Given the description of an element on the screen output the (x, y) to click on. 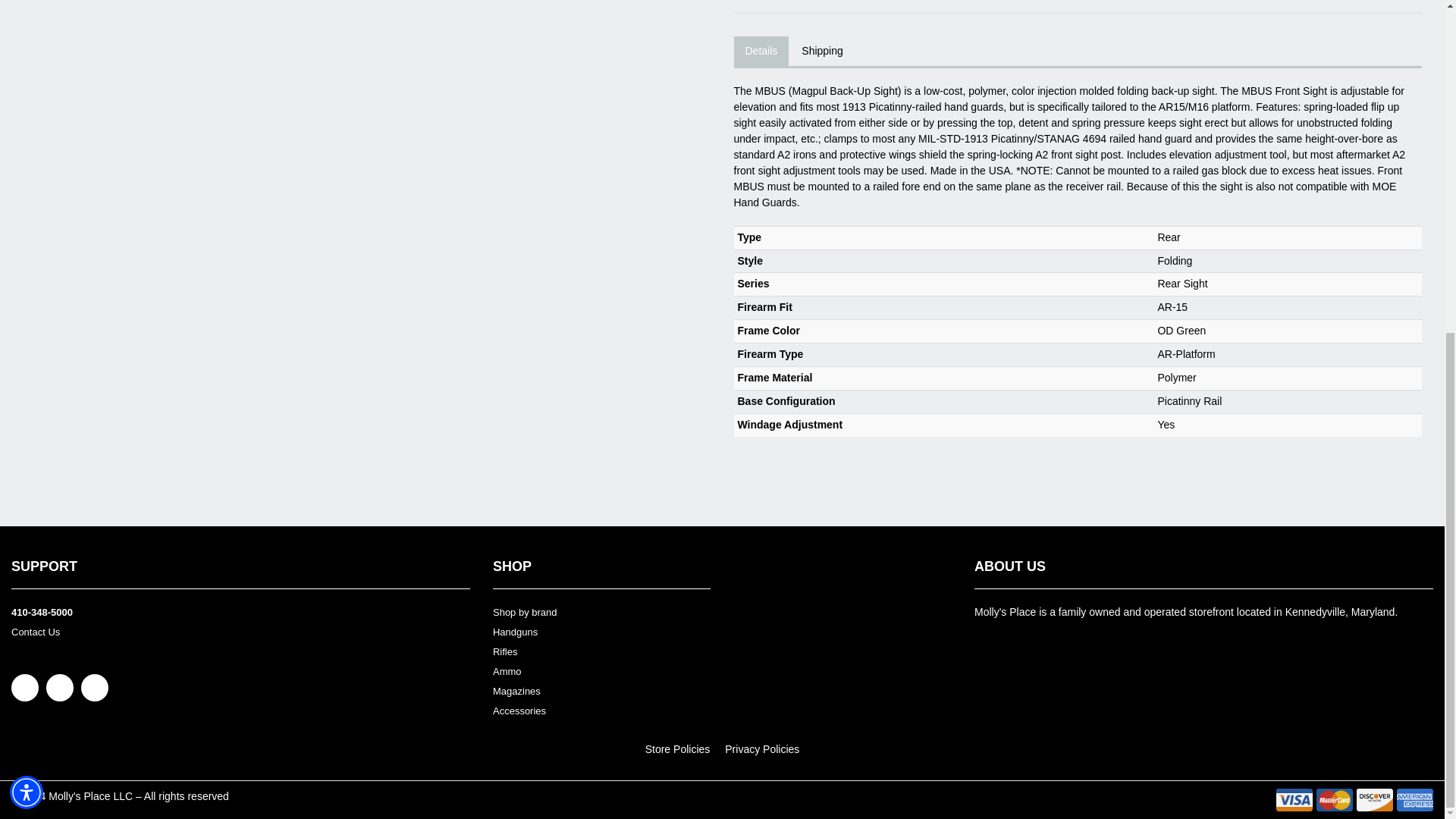
Accessibility Menu (26, 236)
